Given the description of an element on the screen output the (x, y) to click on. 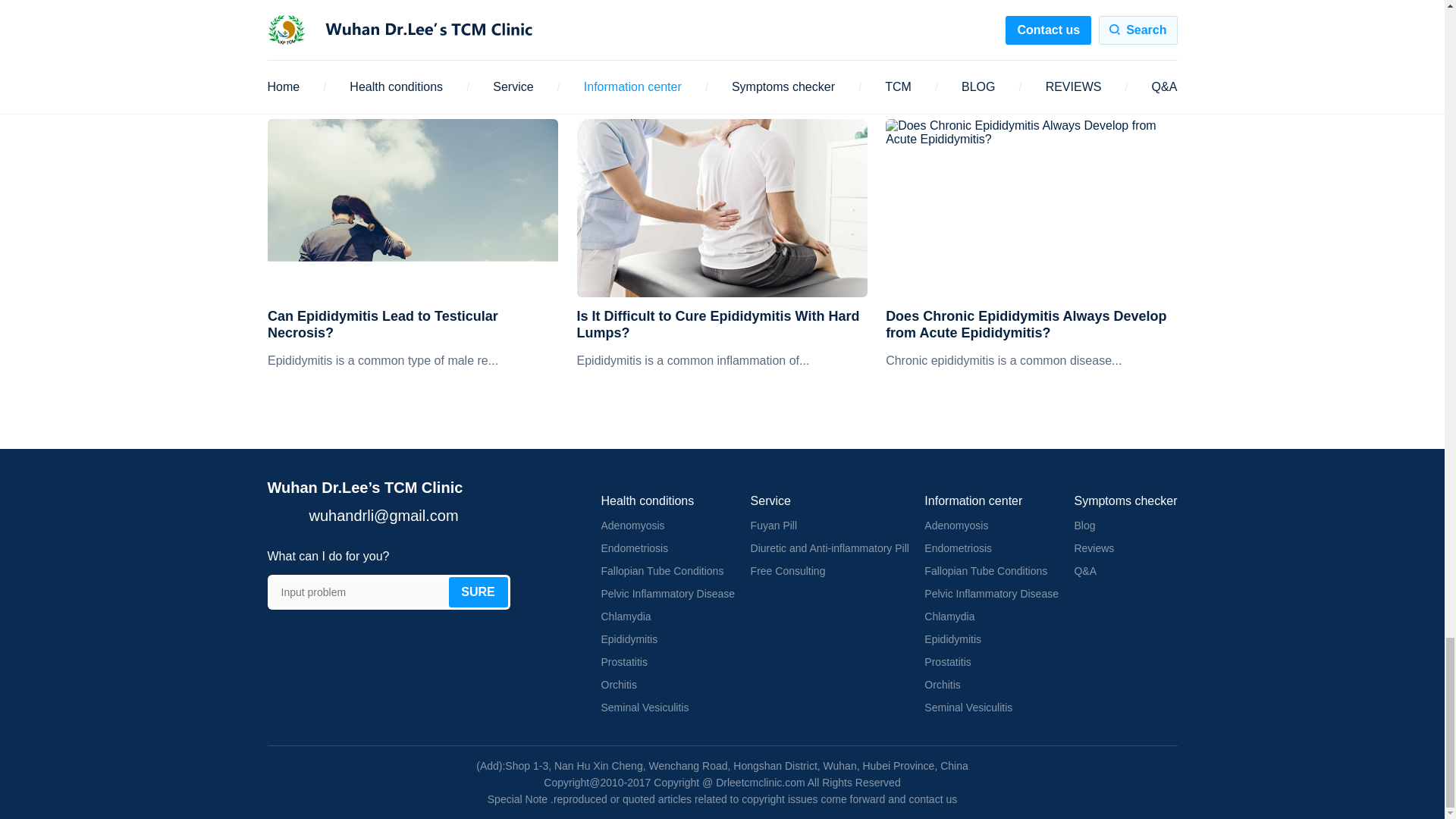
Is It Difficult to Cure Epididymitis With Hard Lumps? (721, 324)
SURE (478, 592)
Can Epididymitis Lead to Testicular Necrosis? (412, 324)
Can Epididymitis Lead to Testicular Necrosis? (412, 207)
Is It Difficult to Cure Epididymitis With Hard Lumps? (721, 207)
